Given the description of an element on the screen output the (x, y) to click on. 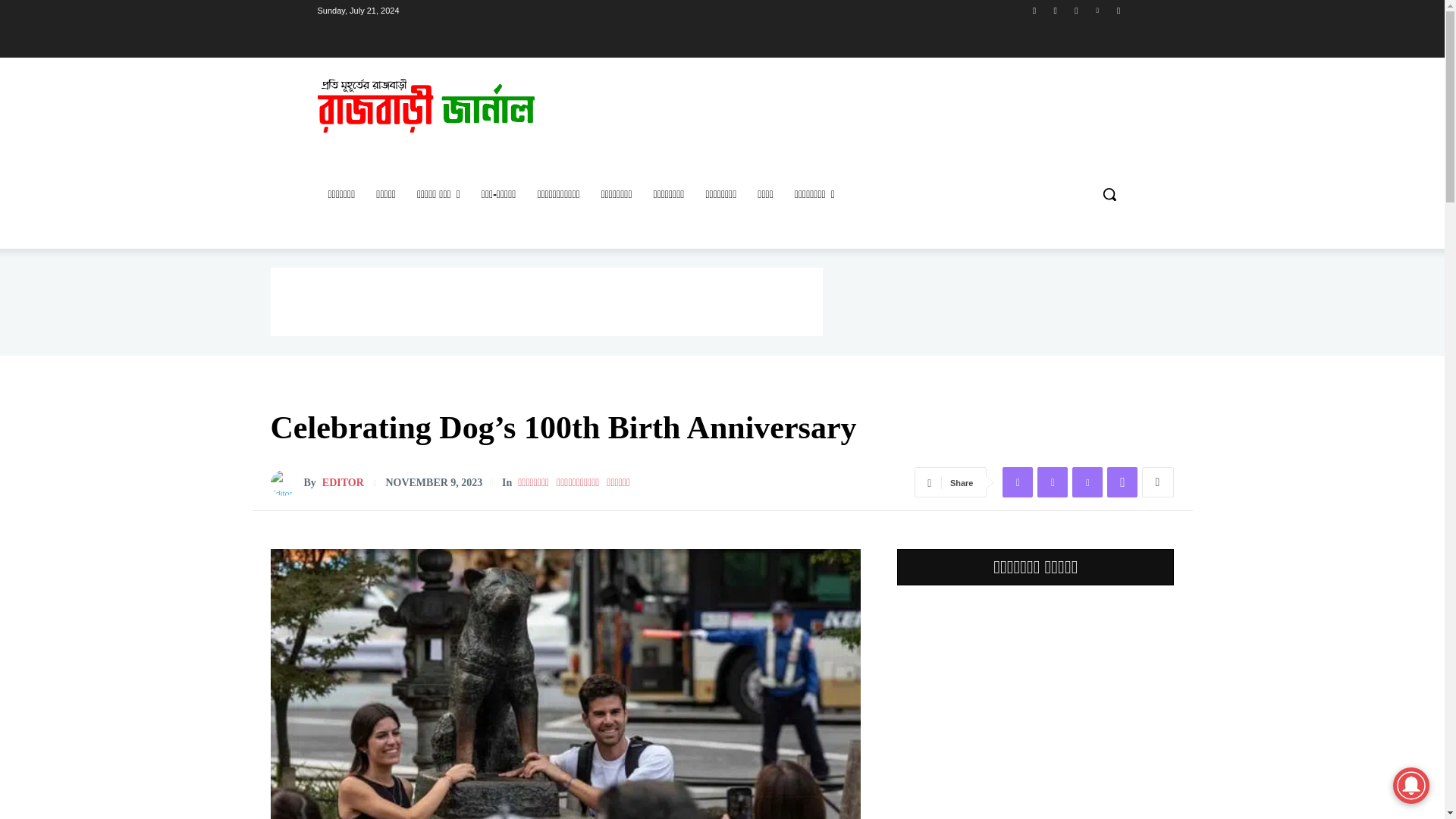
Twitter (1075, 9)
Twitter (1051, 481)
Facebook (1017, 481)
Facebook (1034, 9)
WhatsApp (1121, 481)
Youtube (1117, 9)
Pinterest (1086, 481)
Instagram (1055, 9)
Editor (285, 483)
Vimeo (1097, 9)
